Given the description of an element on the screen output the (x, y) to click on. 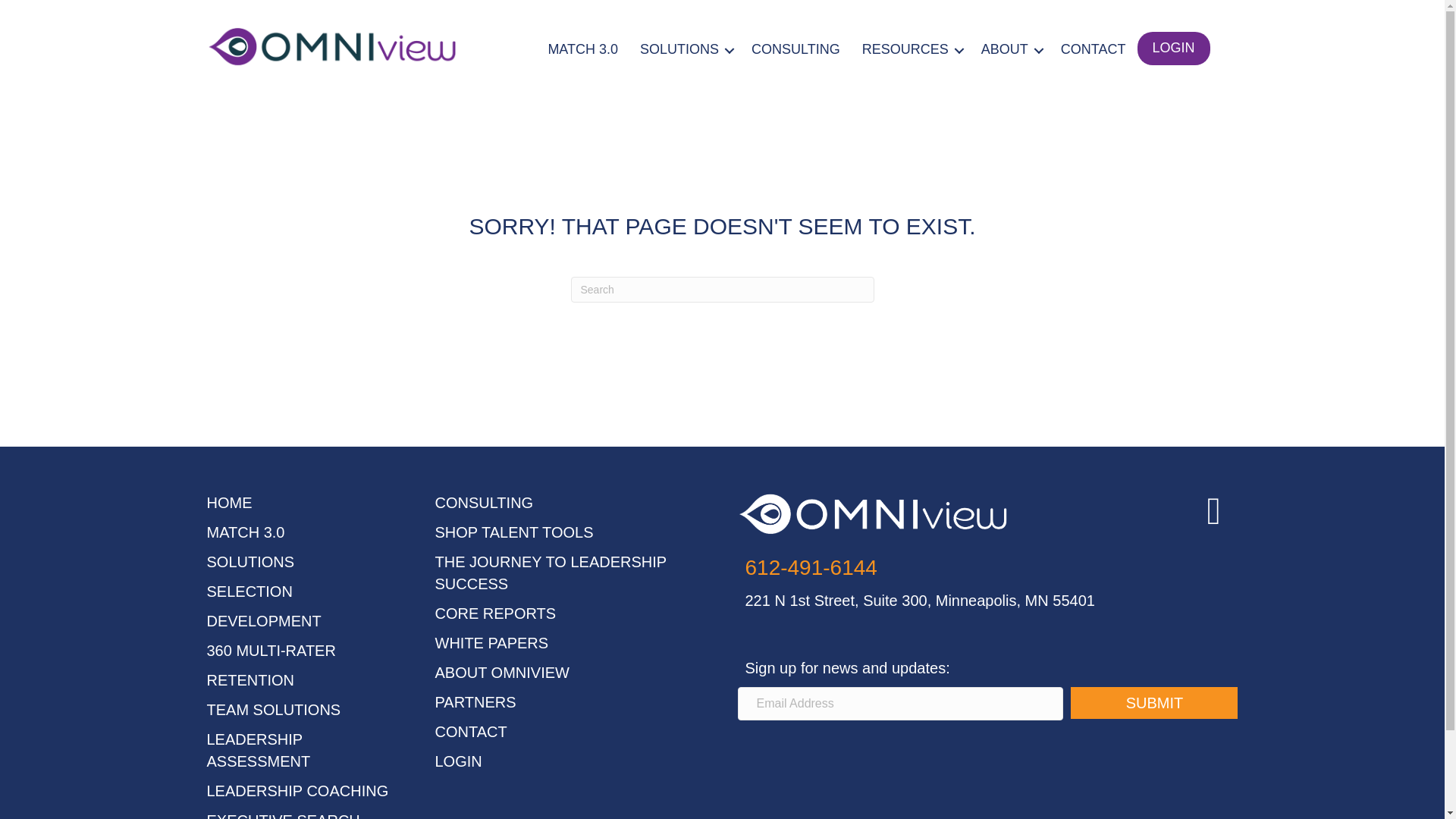
CORE REPORTS (495, 613)
SOLUTIONS (683, 48)
RETENTION (250, 679)
HOME (228, 502)
360 MULTI-RATER (270, 650)
RESOURCES (910, 48)
SHOP TALENT TOOLS (514, 532)
LOGIN (1173, 47)
ABOUT (1010, 48)
SELECTION (249, 591)
Type and press Enter to search. (721, 289)
CONSULTING (795, 48)
LEADERSHIP COACHING (297, 790)
CONTACT (1093, 48)
SOLUTIONS (250, 561)
